Given the description of an element on the screen output the (x, y) to click on. 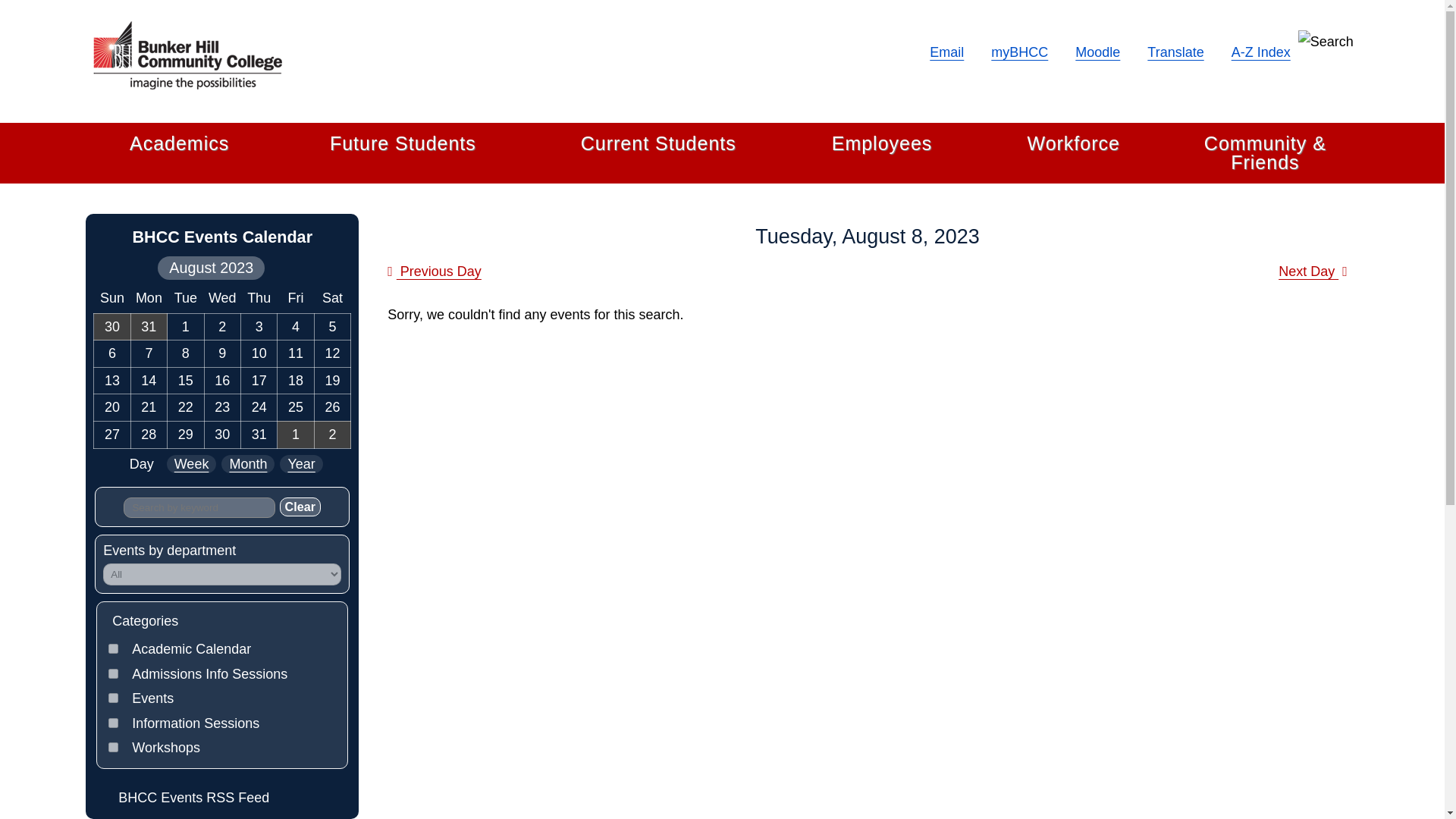
Academics (178, 143)
A-Z Index (1260, 52)
Future Students (403, 143)
Current Students (658, 143)
Workforce (1072, 143)
Employees (882, 143)
Moodle (1097, 52)
Skip to main content (4, 4)
myBHCC (1019, 52)
Email (946, 52)
